Given the description of an element on the screen output the (x, y) to click on. 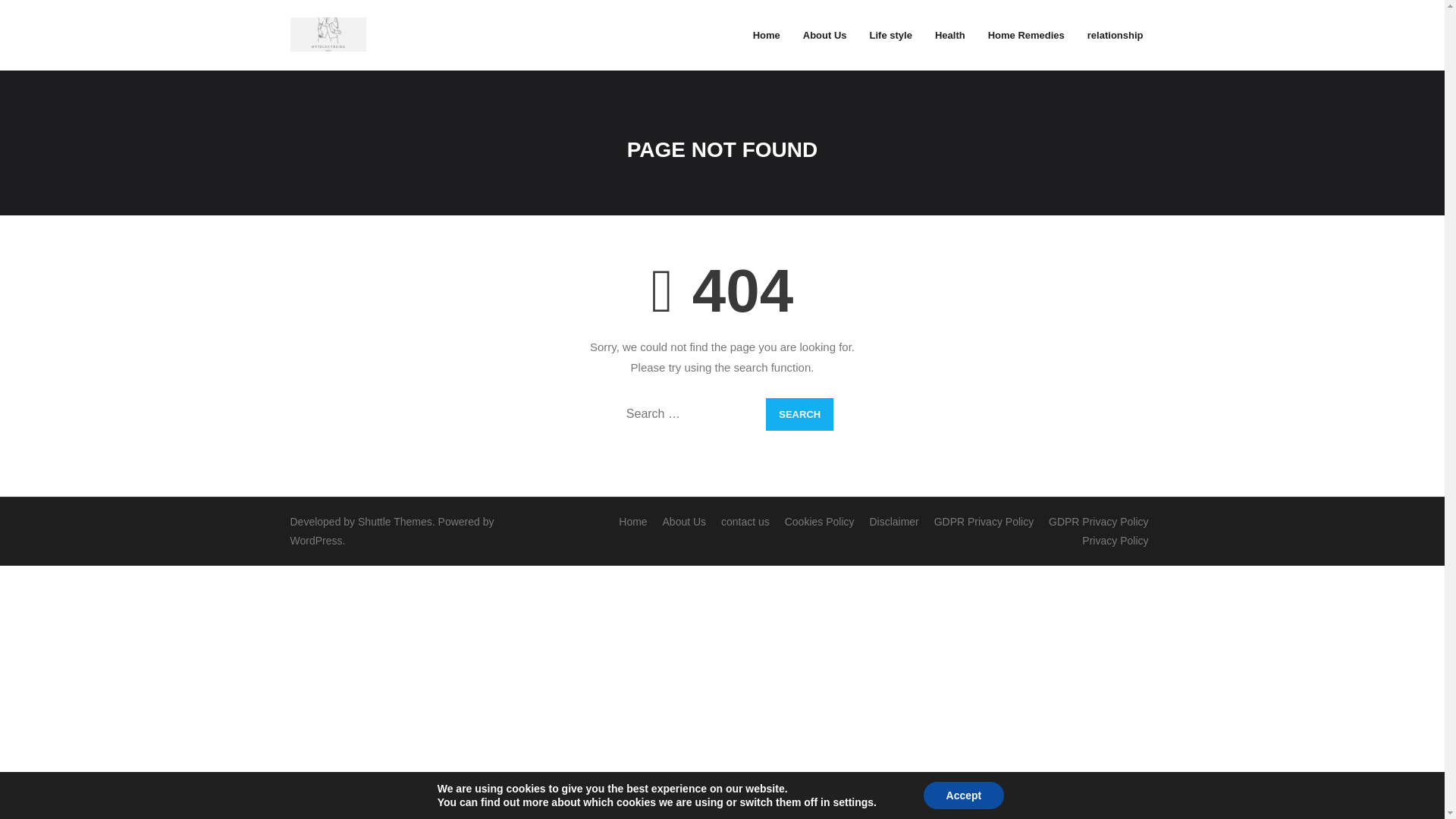
Search (798, 414)
Cookies Policy (819, 521)
Disclaimer (893, 521)
Home Remedies (1025, 35)
About Us (684, 521)
WordPress (315, 540)
Search (798, 414)
Search (798, 414)
Home (766, 35)
Life style (891, 35)
GDPR Privacy Policy (983, 521)
About Us (825, 35)
relationship (1114, 35)
Home (632, 521)
contact us (745, 521)
